Given the description of an element on the screen output the (x, y) to click on. 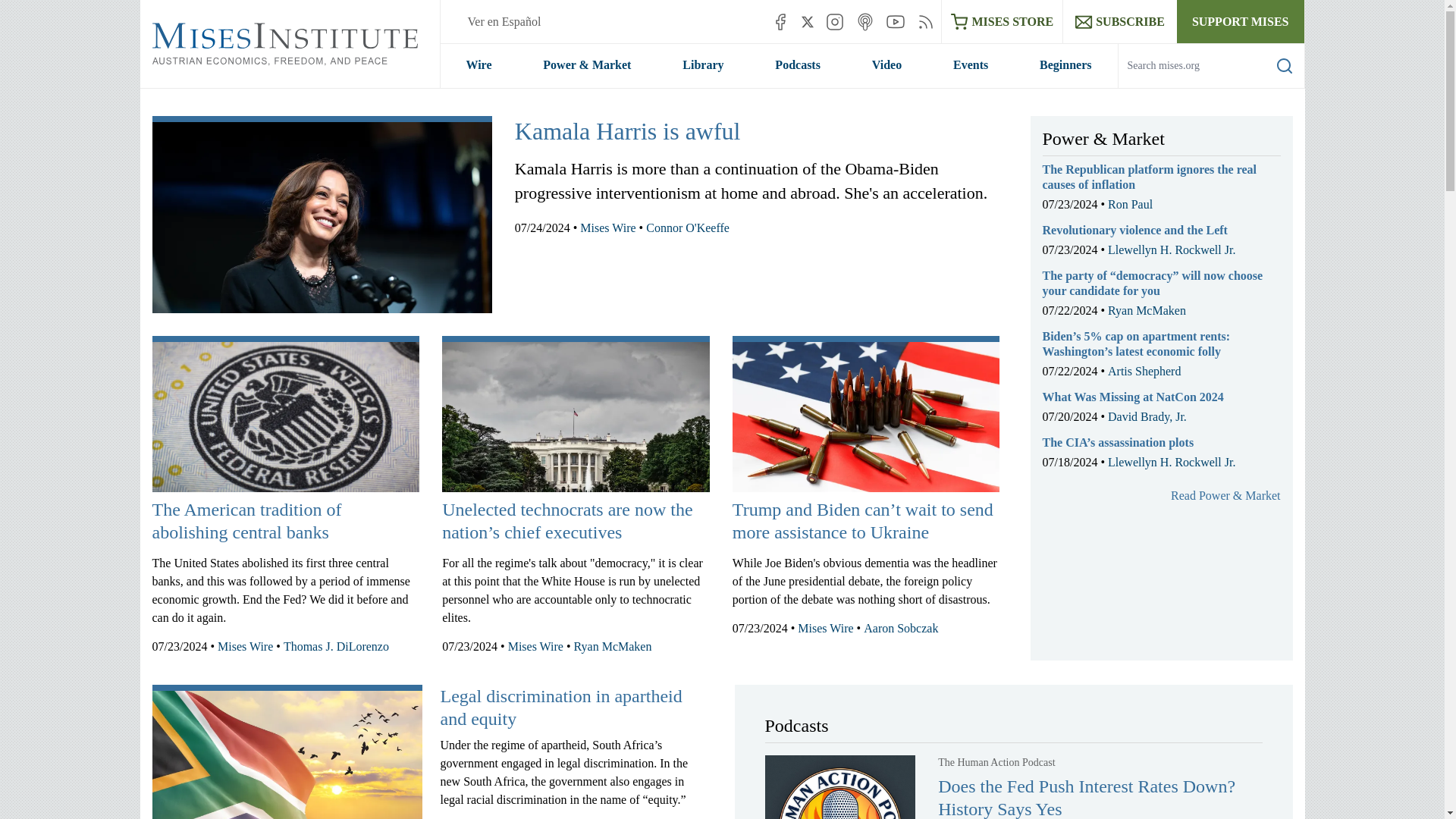
MISES STORE (1002, 21)
SUBSCRIBE (1119, 21)
SUPPORT MISES (1240, 21)
Mises X (807, 21)
Search (1284, 65)
Wire (477, 65)
Mises Youtube (895, 21)
Mises itunes (865, 21)
Podcasts (797, 65)
Library (702, 65)
Video (886, 65)
Mises RSS feed (925, 21)
Mises Instagram (834, 21)
Mises Facebook (780, 21)
